Given the description of an element on the screen output the (x, y) to click on. 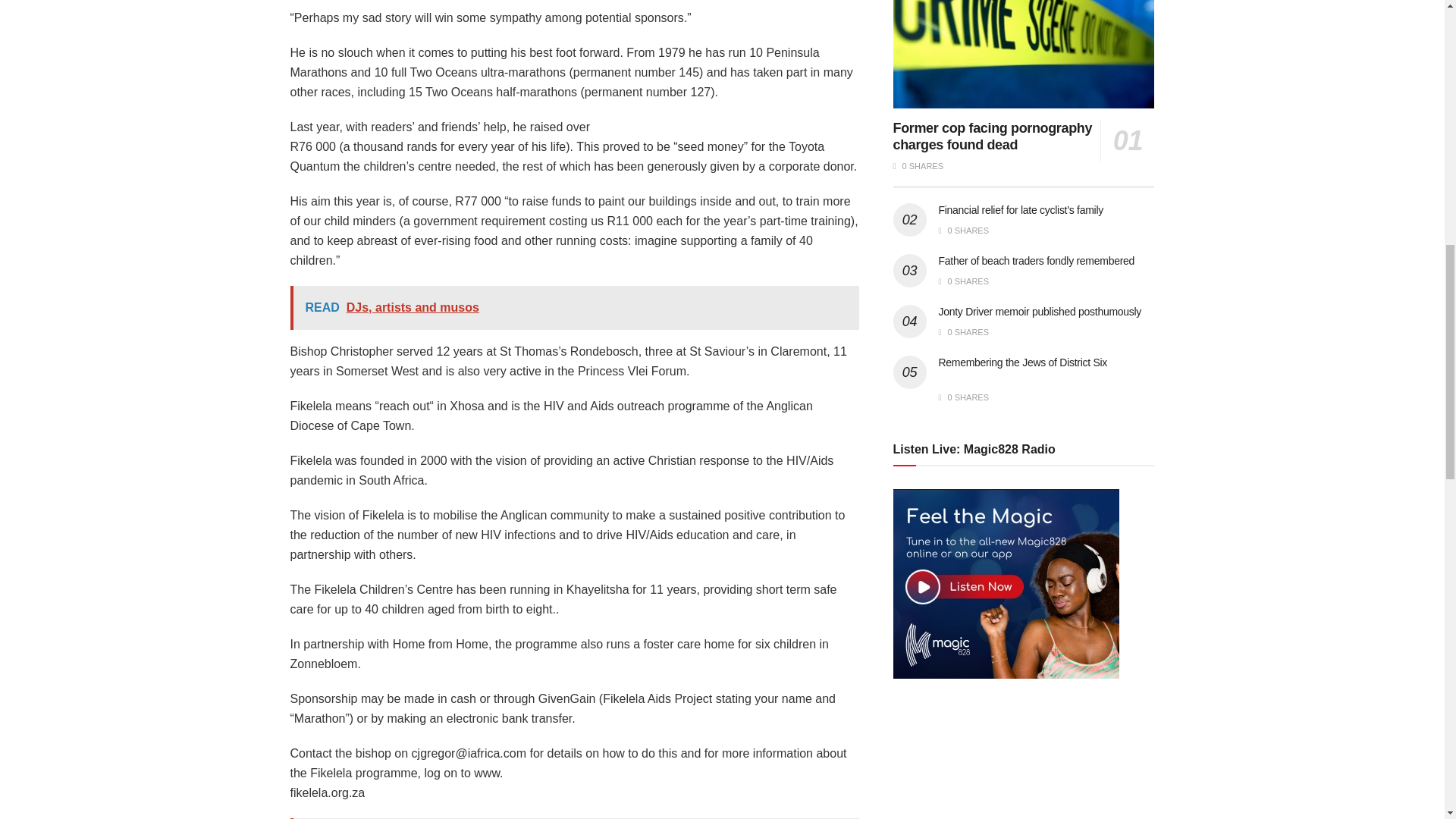
READ  DJs, artists and musos (574, 307)
